Given the description of an element on the screen output the (x, y) to click on. 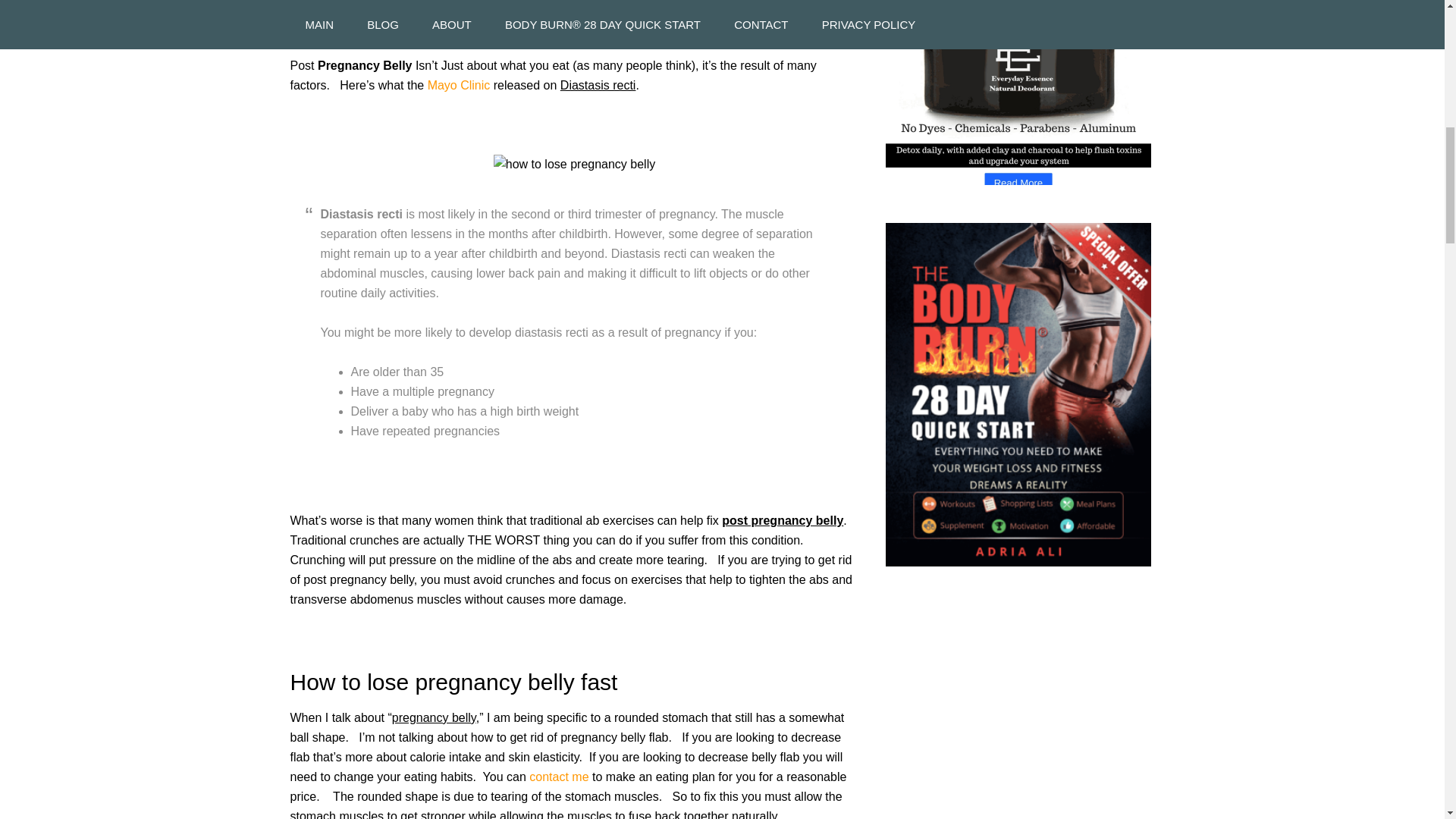
meal plan  (558, 776)
pregnancy belly and ab exercises  (459, 84)
contact me (558, 776)
Mayo Clinic (459, 84)
